Given the description of an element on the screen output the (x, y) to click on. 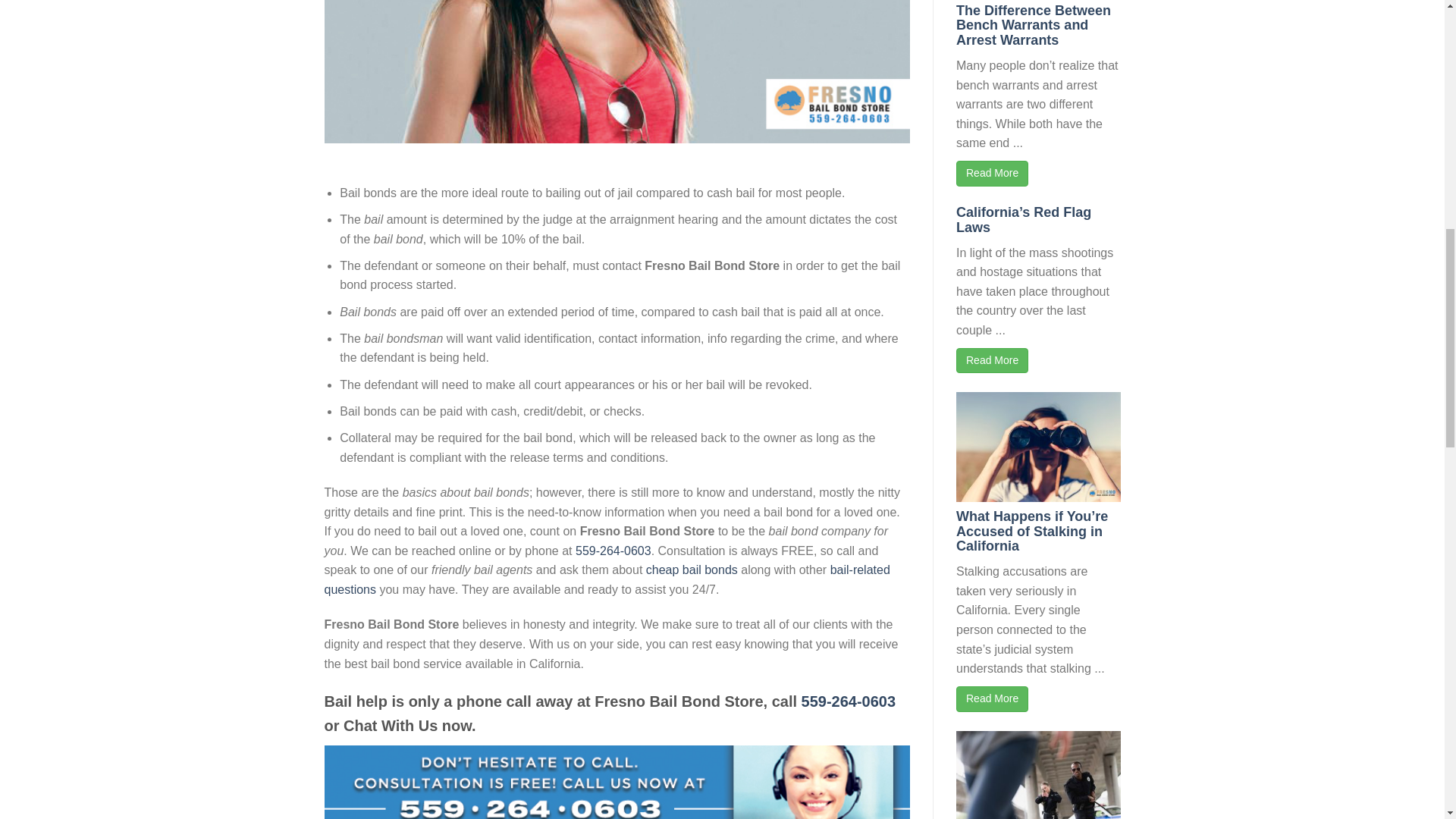
bail-related questions (606, 579)
559-264-0603 (849, 701)
cheap bail bonds (692, 569)
559-264-0603 (612, 550)
